Given the description of an element on the screen output the (x, y) to click on. 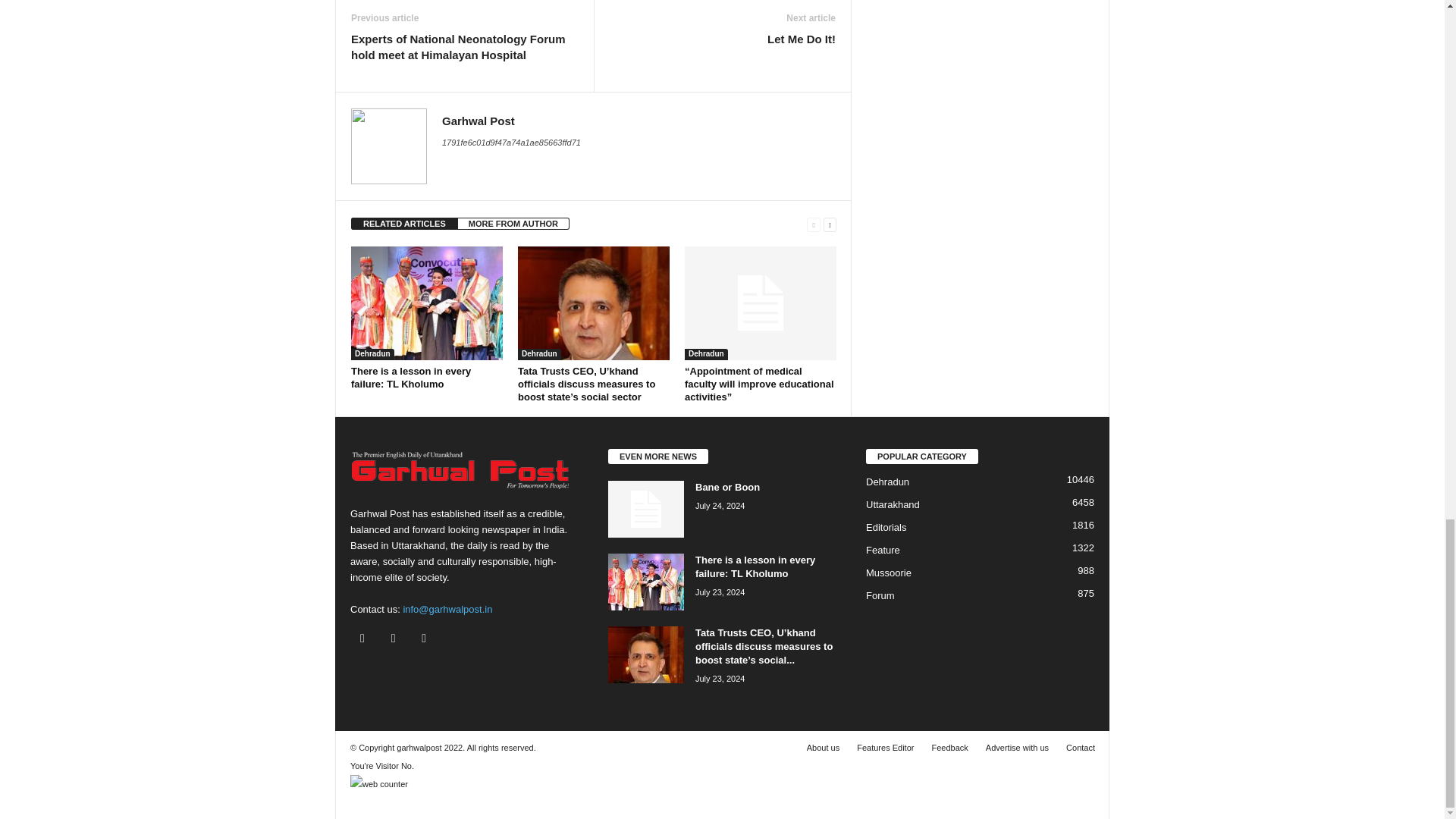
There is a lesson in every failure: TL Kholumo (410, 377)
There is a lesson in every failure: TL Kholumo (426, 303)
